Given the description of an element on the screen output the (x, y) to click on. 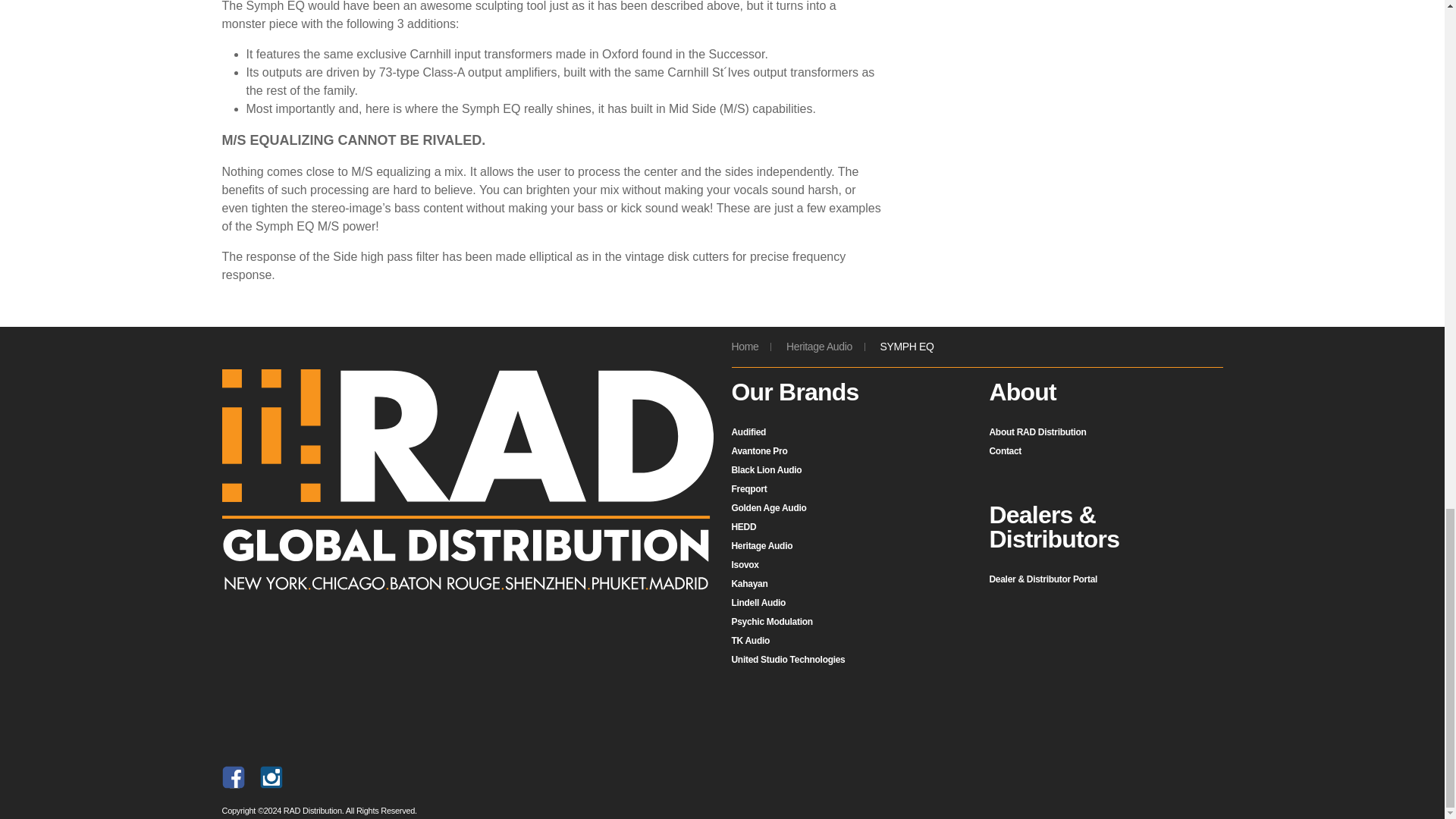
Home (744, 346)
Heritage Audio (761, 545)
SYMPH EQ (906, 346)
Audified (747, 431)
Freqport (748, 489)
Lindell Audio (758, 602)
Heritage Audio (818, 346)
Avantone Pro (758, 450)
Black Lion Audio (766, 470)
Kahayan (748, 583)
